Given the description of an element on the screen output the (x, y) to click on. 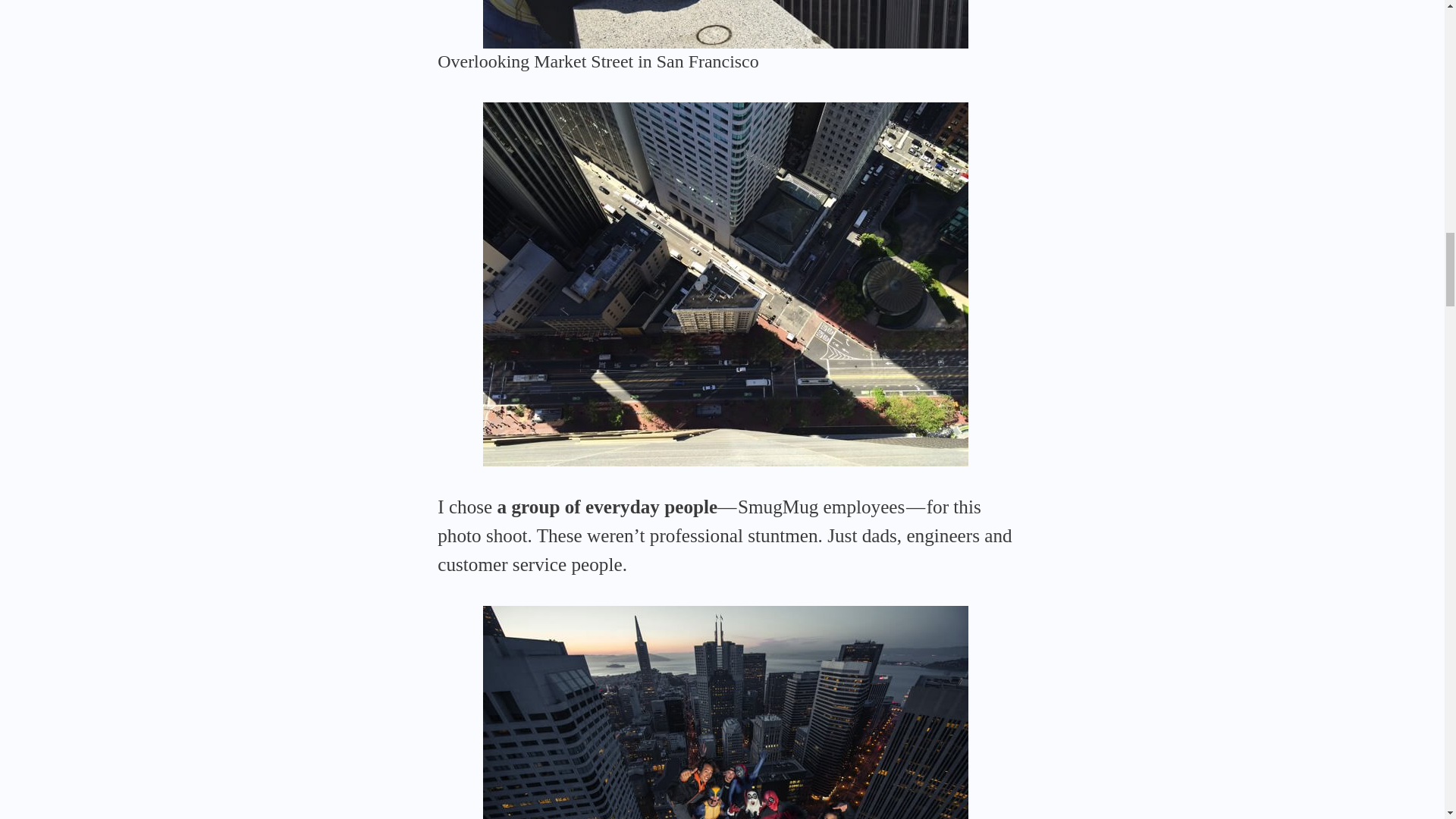
1-3-nKUKqbJR7vmQC1k8ulAw.jpeg (725, 712)
